Given the description of an element on the screen output the (x, y) to click on. 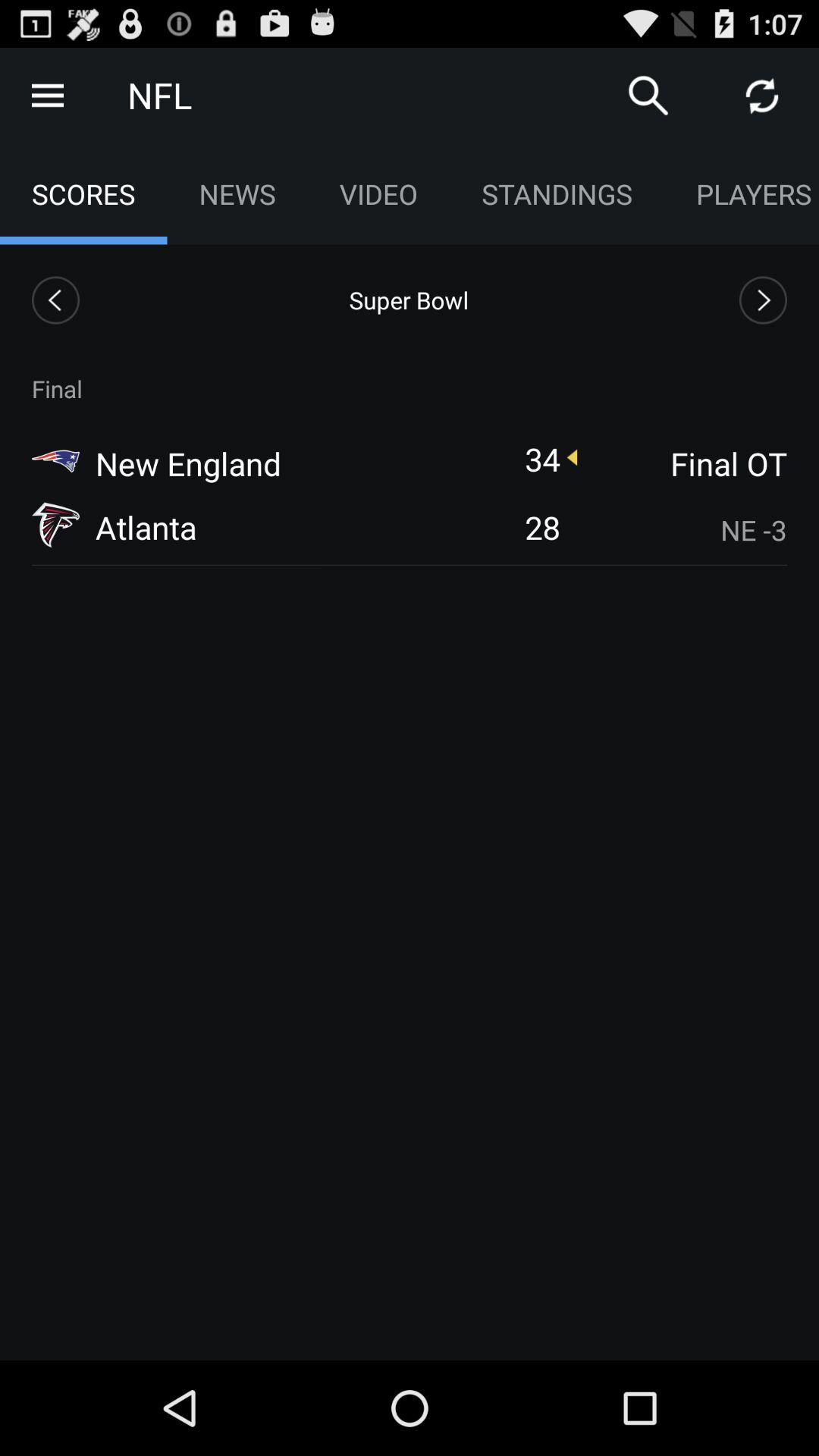
choose icon at the center (542, 526)
